Given the description of an element on the screen output the (x, y) to click on. 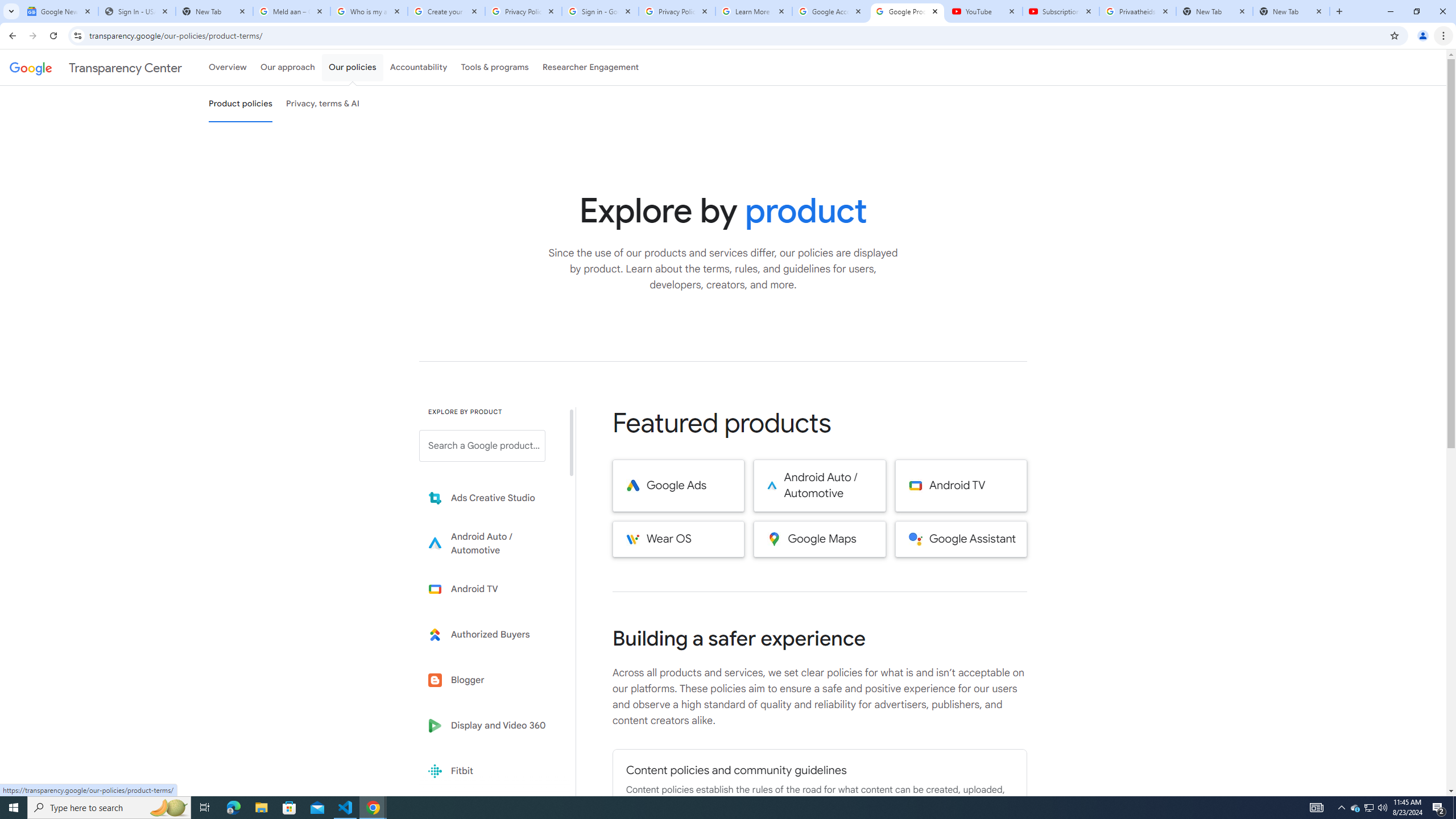
Blogger (490, 679)
